Given the description of an element on the screen output the (x, y) to click on. 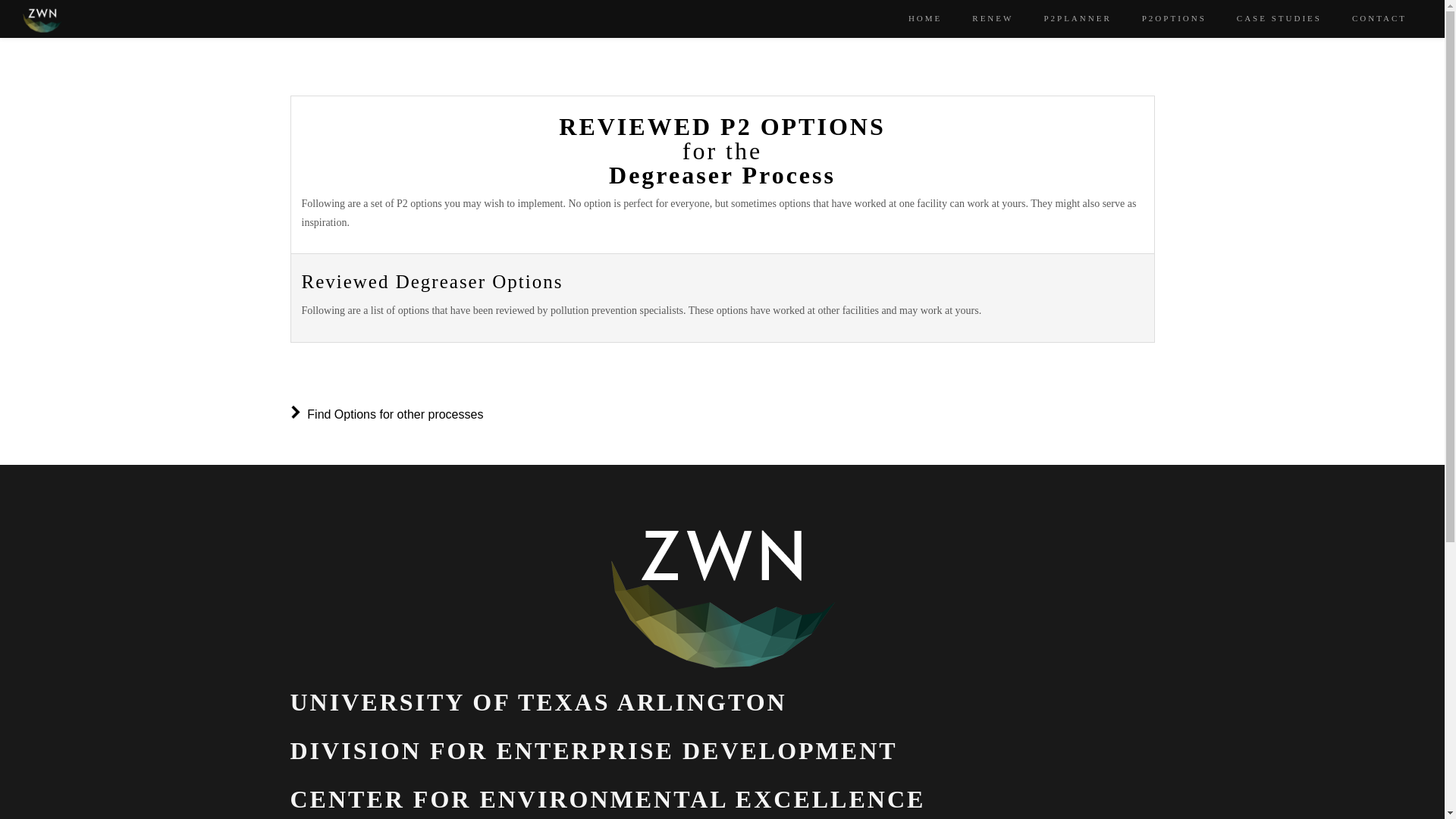
RENEW (992, 17)
P2PLANNER (1076, 17)
CASE STUDIES (1279, 17)
P2OPTIONS (1174, 17)
Find Options for other processes (386, 413)
HOME (925, 17)
CONTACT (1379, 17)
